Given the description of an element on the screen output the (x, y) to click on. 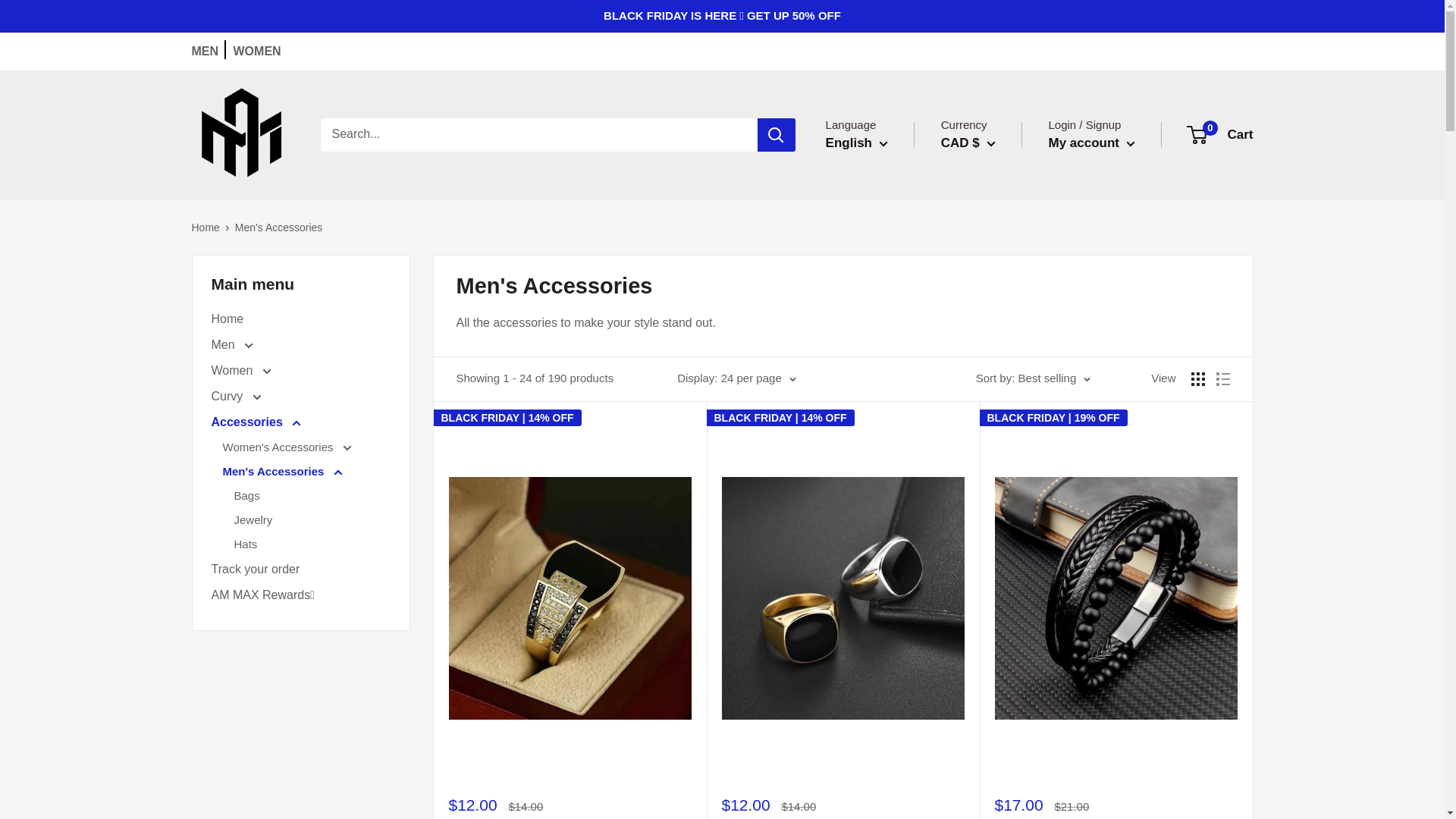
ANG Element type: text (991, 413)
BOB Element type: text (991, 644)
Home Element type: text (299, 319)
WOMEN Element type: text (257, 50)
BZD Element type: text (991, 714)
AWG Element type: text (991, 459)
Women Element type: text (299, 370)
Women's Accessories Element type: text (306, 447)
0
Cart Element type: text (1220, 134)
Men's Accessories Element type: text (306, 471)
MEN Element type: text (204, 50)
BDT Element type: text (991, 551)
AFN Element type: text (991, 343)
Home Element type: text (205, 227)
BSD Element type: text (991, 667)
Sort by: Best selling Element type: text (1033, 378)
English Element type: text (856, 143)
Bags Element type: text (311, 495)
fr Element type: text (869, 256)
es Element type: text (869, 209)
Track your order Element type: text (299, 569)
CHF Element type: text (991, 783)
BGN Element type: text (991, 575)
CAD $ Element type: text (968, 143)
Jewelry Element type: text (311, 520)
AZN Element type: text (991, 482)
Display: 24 per page Element type: text (736, 378)
Men Element type: text (299, 344)
Curvy Element type: text (299, 396)
BBD Element type: text (991, 529)
BAM Element type: text (991, 505)
AM APPAREL Element type: text (240, 134)
de Element type: text (869, 233)
CAD Element type: text (991, 736)
BIF Element type: text (991, 598)
BND Element type: text (991, 621)
AUD Element type: text (991, 436)
AMD Element type: text (991, 390)
My account Element type: text (1091, 143)
BWP Element type: text (991, 690)
Hats Element type: text (311, 544)
en Element type: text (869, 187)
ALL Element type: text (991, 366)
AED Element type: text (991, 320)
Accessories Element type: text (299, 422)
CDF Element type: text (991, 760)
